Given the description of an element on the screen output the (x, y) to click on. 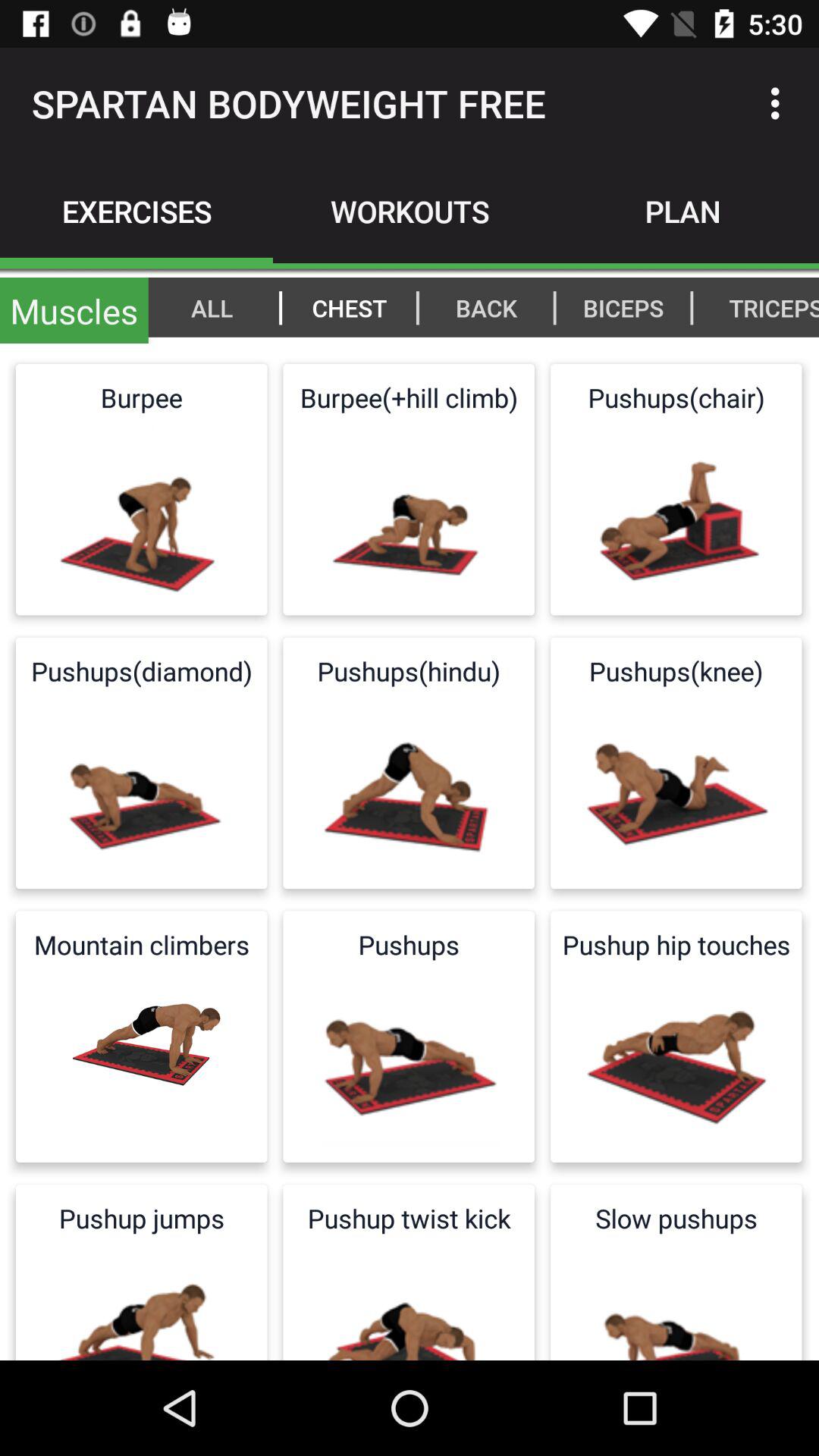
launch the item next to the | (485, 307)
